Given the description of an element on the screen output the (x, y) to click on. 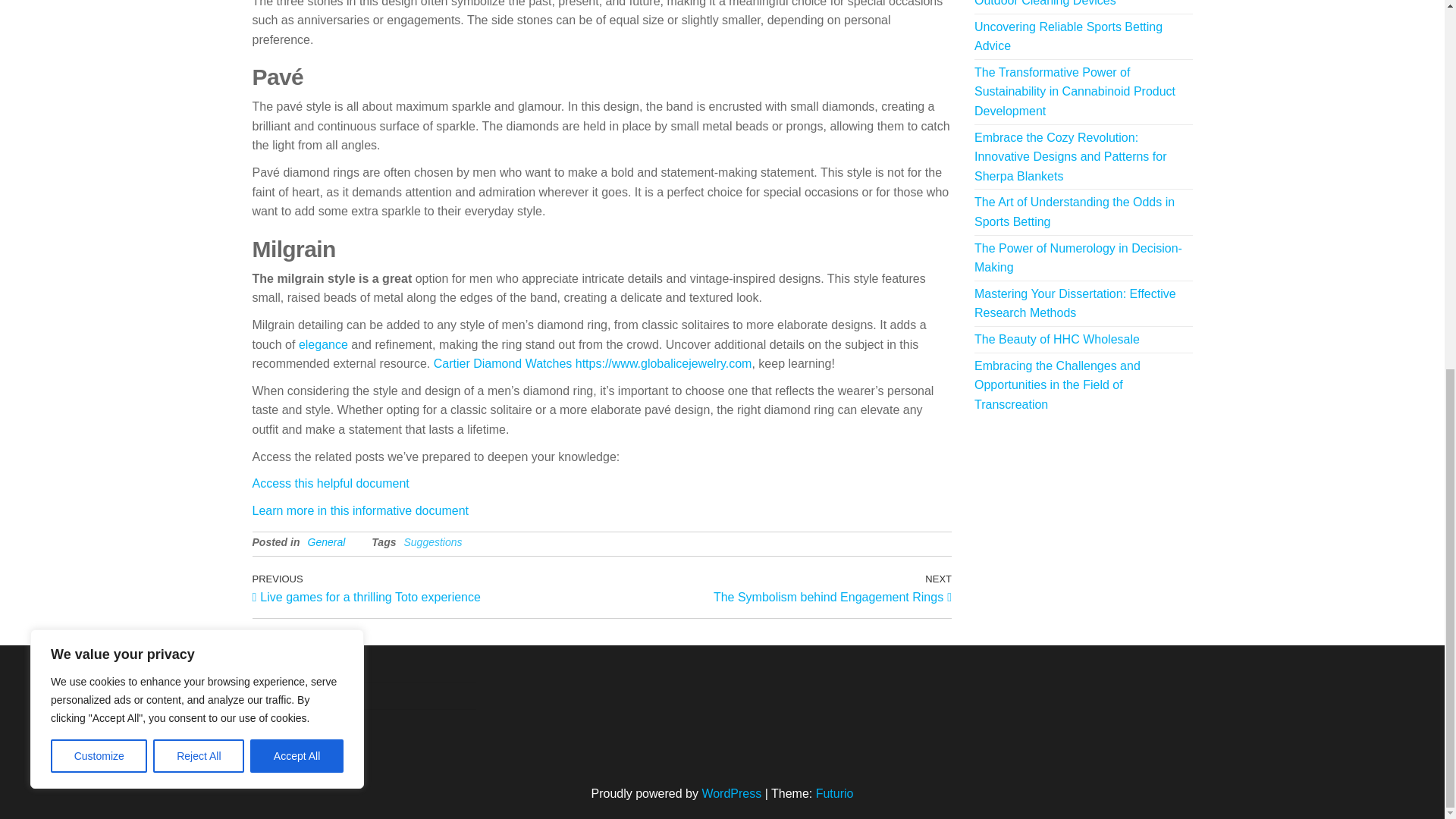
Access this helpful document (330, 482)
General (777, 587)
elegance (326, 541)
Accept All (322, 344)
Unlocking the Power of AI-Powered Outdoor Cleaning Devices (296, 87)
Uncovering Reliable Sports Betting Advice (1070, 3)
Learn more in this informative document (1067, 36)
Customize (359, 510)
Suggestions (98, 87)
Reject All (432, 541)
